Given the description of an element on the screen output the (x, y) to click on. 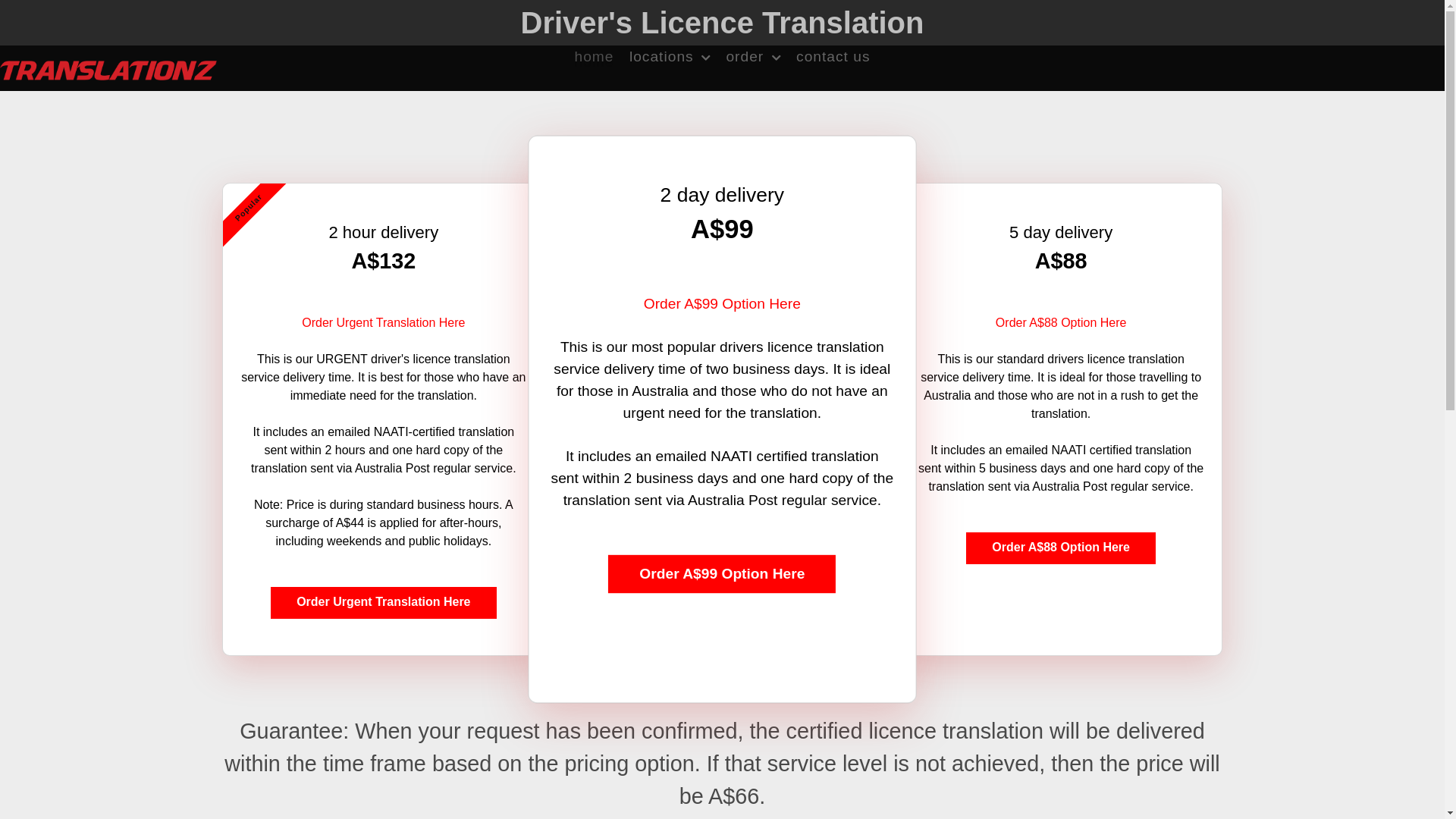
Translationz Element type: hover (108, 67)
Order A$99 Option Here Element type: text (703, 570)
home Element type: text (593, 56)
Order A$88 Option Here Element type: text (1060, 548)
5 day delivery Element type: text (1060, 231)
contact us Element type: text (832, 56)
Order A$88 Option Here Element type: text (1060, 322)
2 day delivery Element type: text (711, 192)
Order Urgent Translation Here Element type: text (382, 602)
Order A$99 Option Here Element type: text (709, 301)
2 hour delivery Element type: text (383, 231)
Driver's Licence Translation Element type: text (722, 22)
Order Urgent Translation Here Element type: text (382, 322)
